Given the description of an element on the screen output the (x, y) to click on. 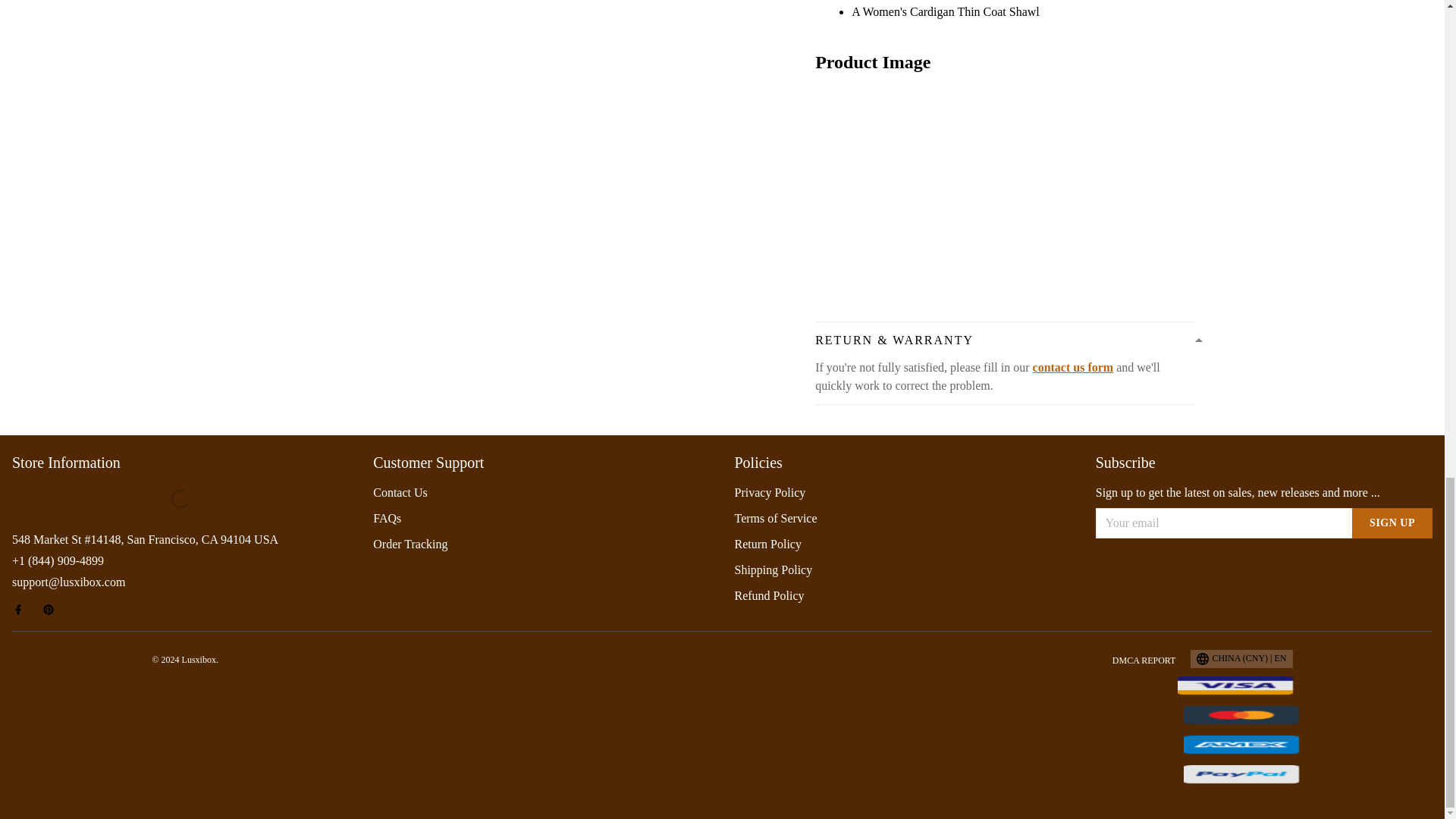
contact us form (1072, 367)
facebook (22, 609)
pinterest (53, 609)
